Given the description of an element on the screen output the (x, y) to click on. 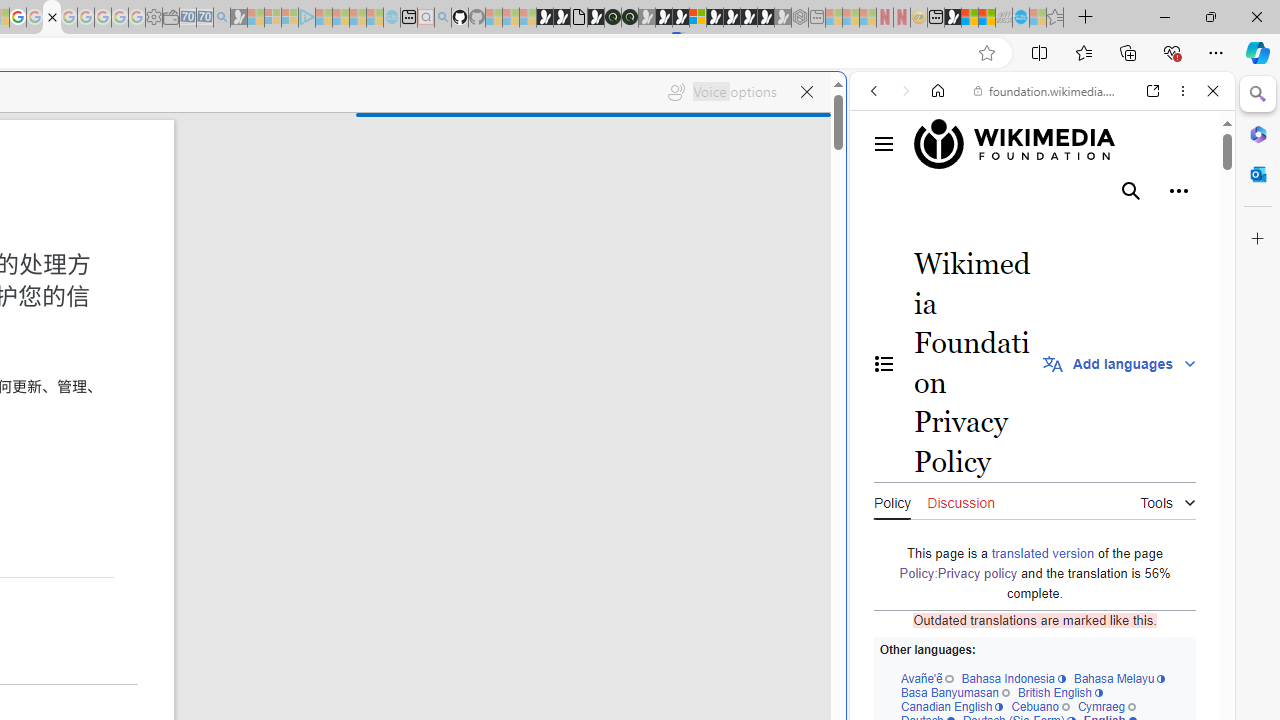
Search Filter, Search Tools (1093, 228)
British English (1060, 691)
translated version (1042, 552)
Search Filter, VIDEOS (1006, 228)
Earth has six continents not seven, radical new study claims (986, 17)
Close split screen (844, 102)
Bahasa Indonesia (1013, 678)
Microsoft account | Privacy - Sleeping (289, 17)
